Given the description of an element on the screen output the (x, y) to click on. 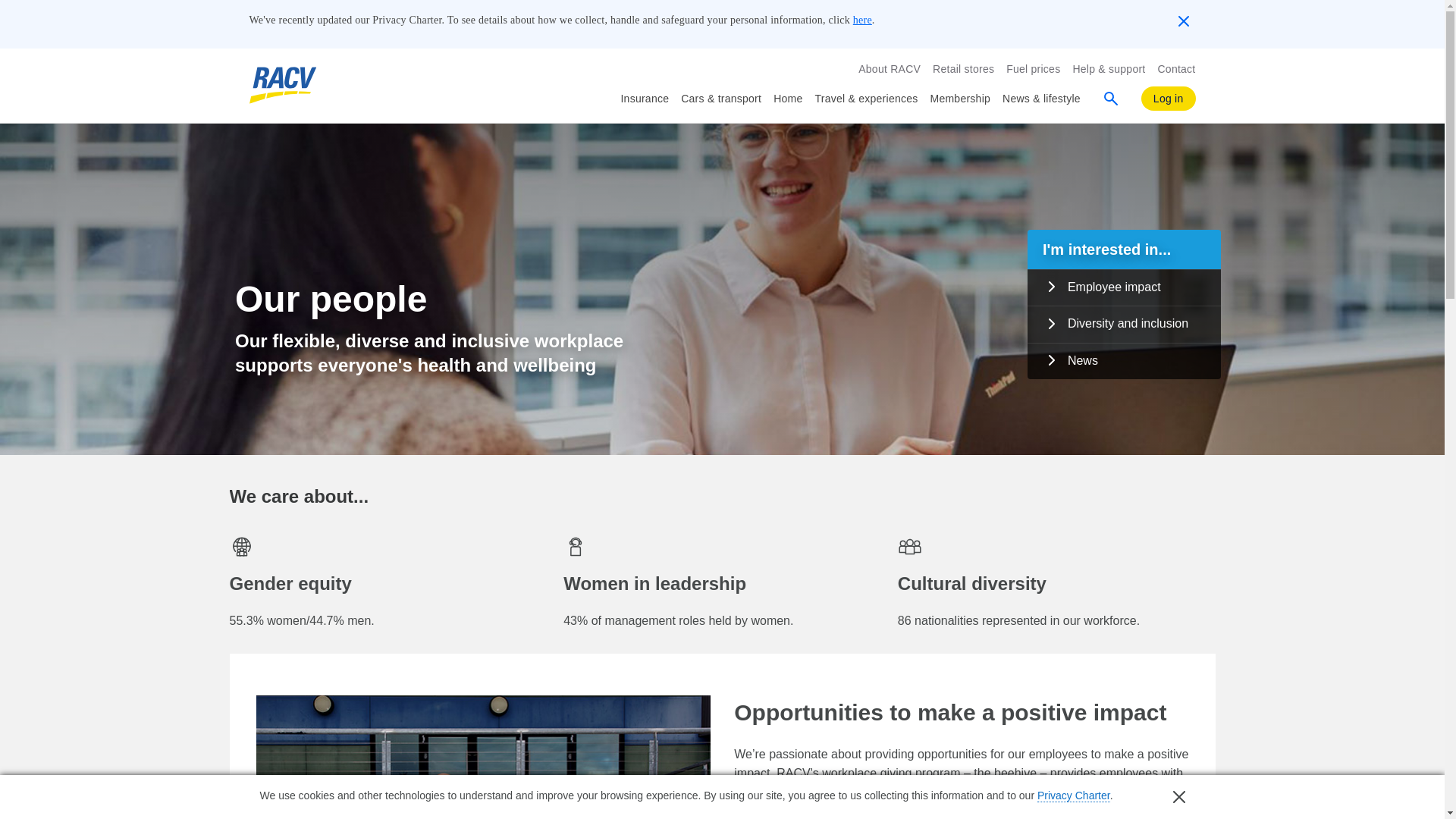
Retail stores (963, 68)
Membership (960, 98)
here (862, 19)
Insurance (644, 98)
Fuel prices (1032, 68)
About RACV (889, 68)
  Employee impact (1124, 287)
Log in (1168, 98)
RACV Privacy Charter (1072, 795)
  Diversity and inclusion (1124, 324)
  News (1124, 361)
Home (787, 98)
Contact (1176, 68)
